Given the description of an element on the screen output the (x, y) to click on. 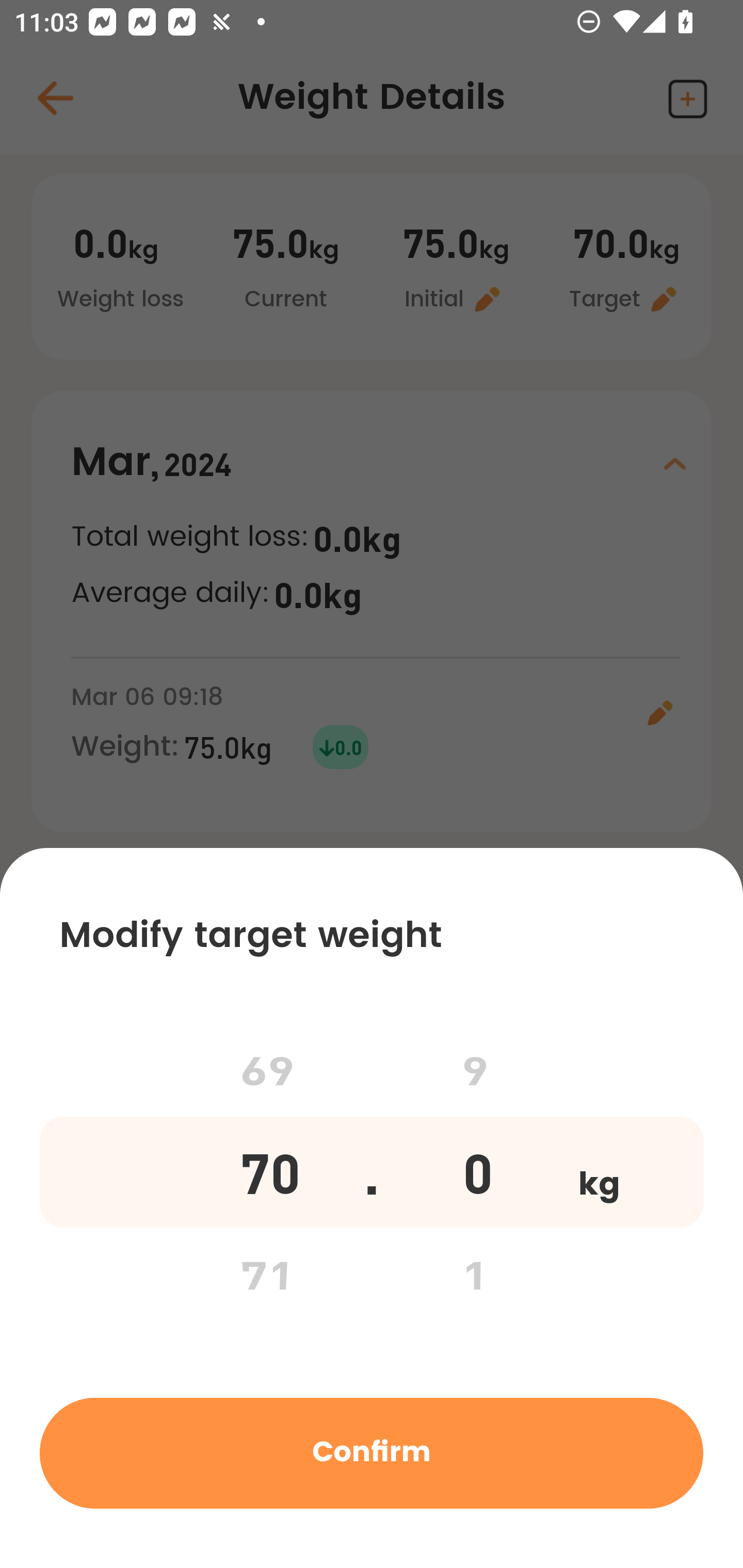
Confirm (371, 1452)
